Given the description of an element on the screen output the (x, y) to click on. 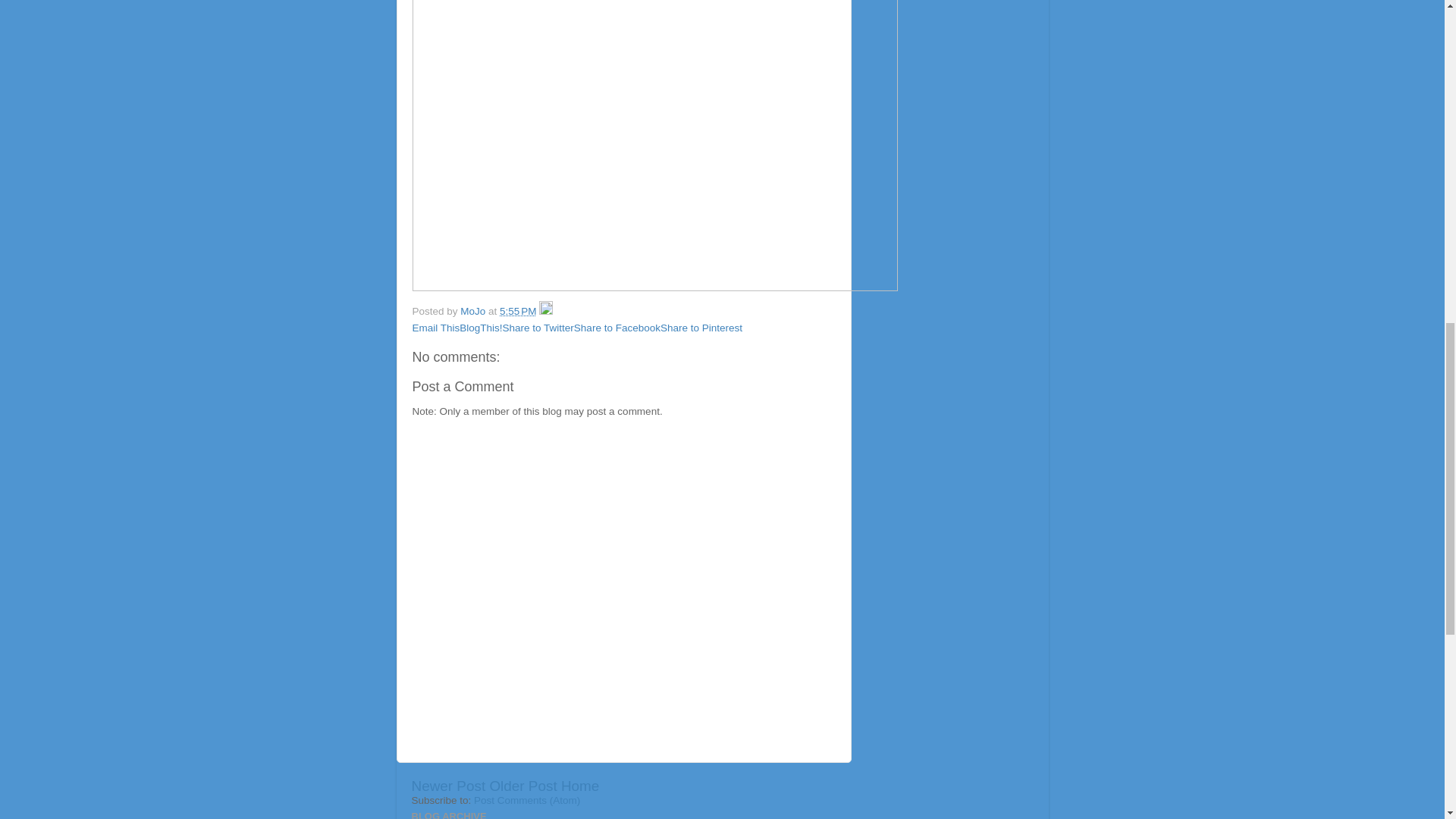
Newer Post (447, 785)
Share to Twitter (537, 327)
Share to Facebook (617, 327)
Older Post (522, 785)
permanent link (517, 310)
Share to Facebook (617, 327)
Share to Twitter (537, 327)
Share to Pinterest (701, 327)
Email This (436, 327)
Older Post (522, 785)
Newer Post (447, 785)
Home (579, 785)
MoJo (473, 310)
author profile (473, 310)
